Given the description of an element on the screen output the (x, y) to click on. 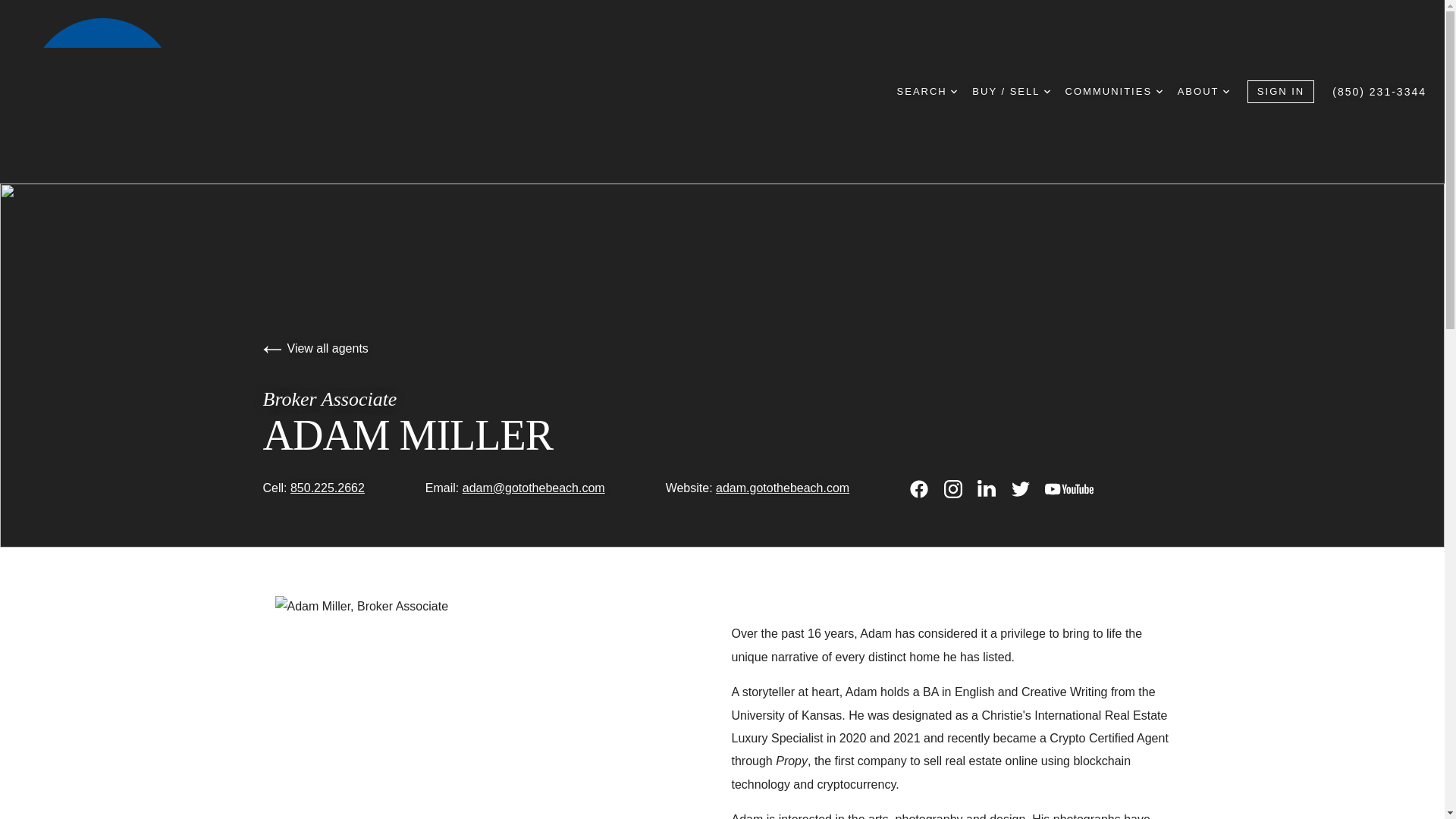
SEARCH DROPDOWN ARROW (927, 91)
Instagram for Adam (952, 488)
DROPDOWN ARROW (953, 91)
Arrow left (271, 349)
Twitter for Adam (1020, 488)
Facebook for Adam (919, 488)
DROPDOWN ARROW (1158, 91)
COMMUNITIES DROPDOWN ARROW (1113, 91)
LinkedIn for Adam (985, 488)
DROPDOWN ARROW (1225, 91)
DROPDOWN ARROW (1046, 91)
ABOUT DROPDOWN ARROW (1202, 91)
YouTube for Adam (1069, 488)
